Given the description of an element on the screen output the (x, y) to click on. 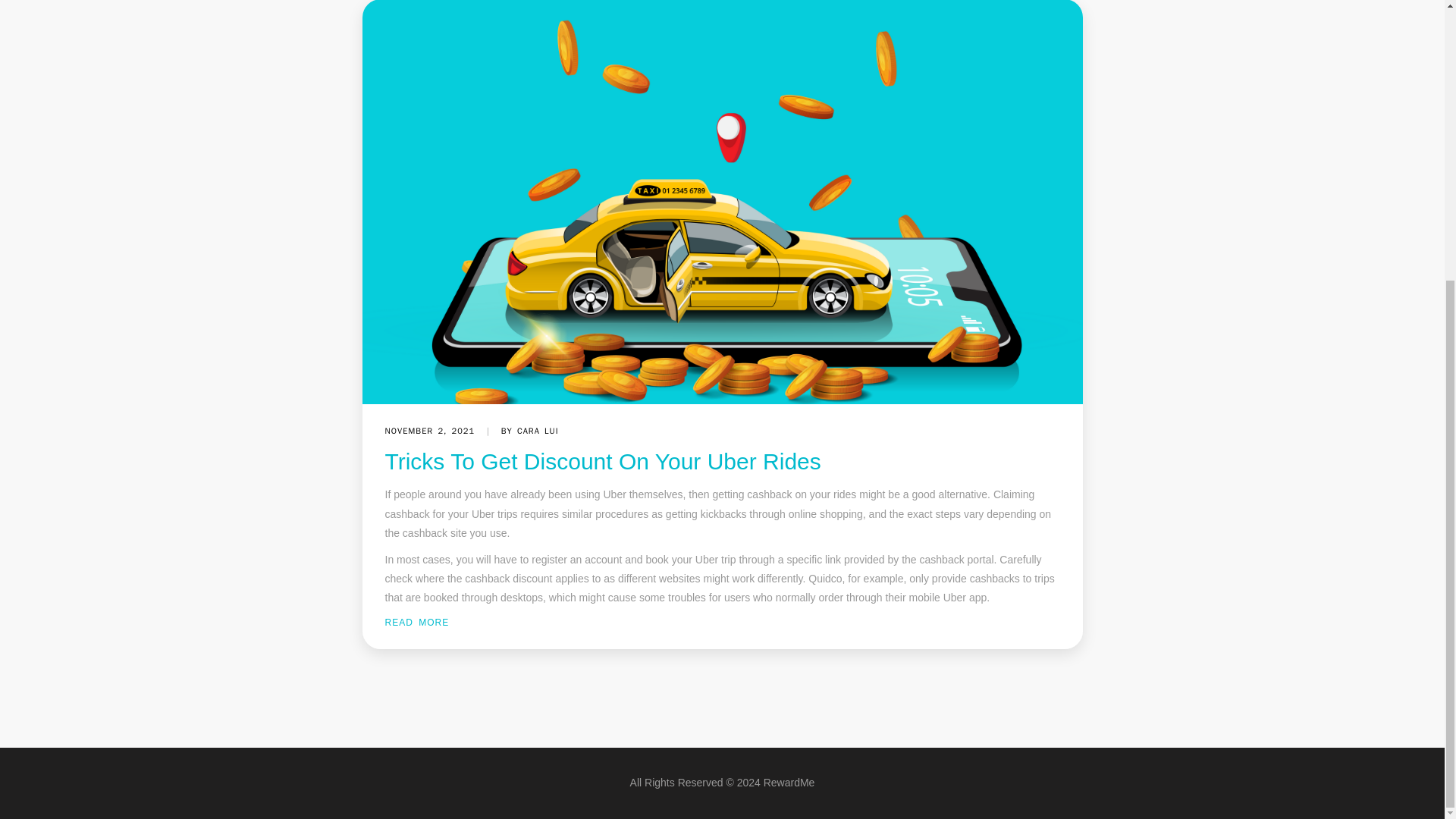
Tricks To Get Discount On Your Uber Rides (603, 461)
READ MORE (417, 622)
